Given the description of an element on the screen output the (x, y) to click on. 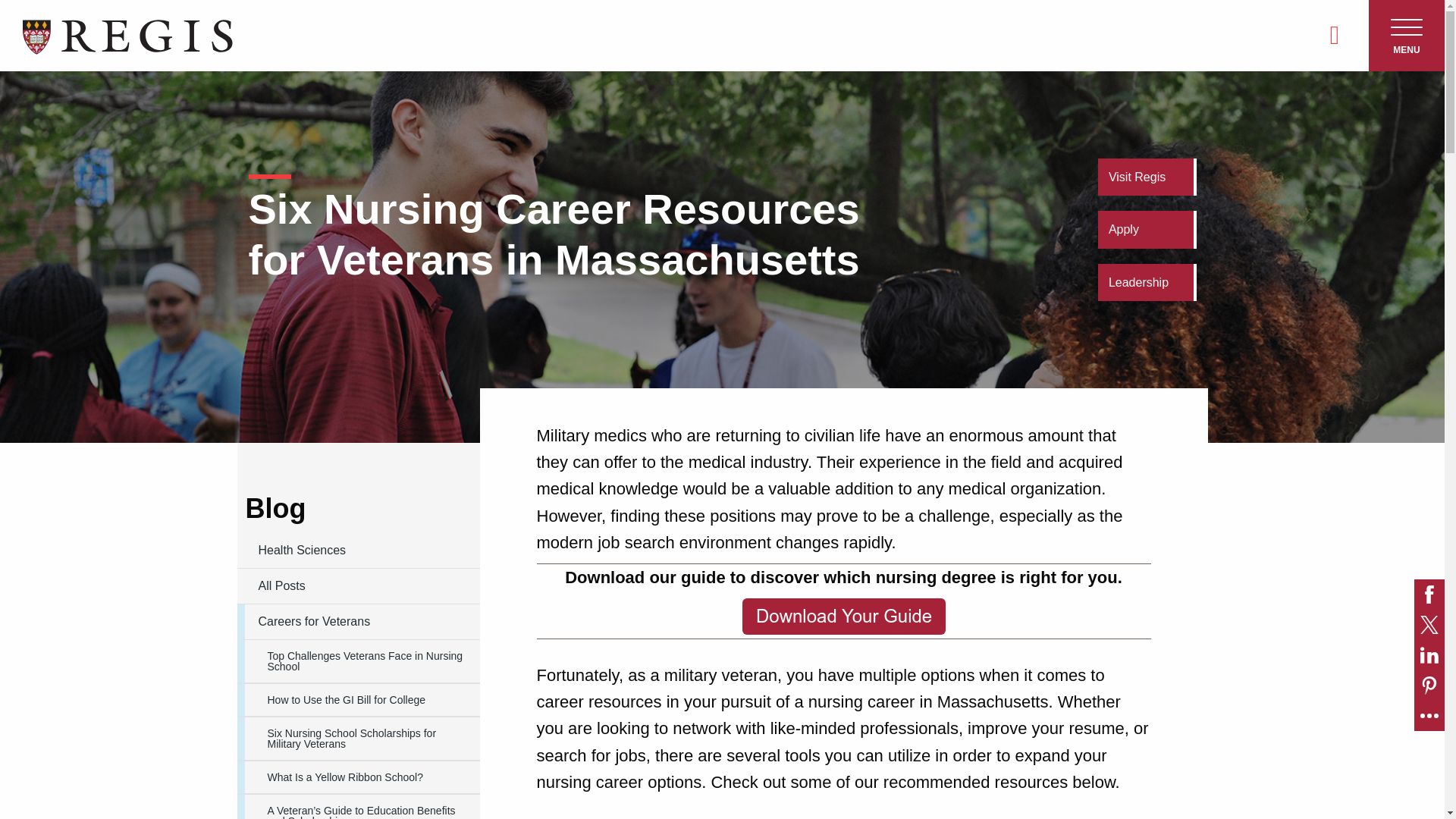
Health Sciences (357, 550)
